Given the description of an element on the screen output the (x, y) to click on. 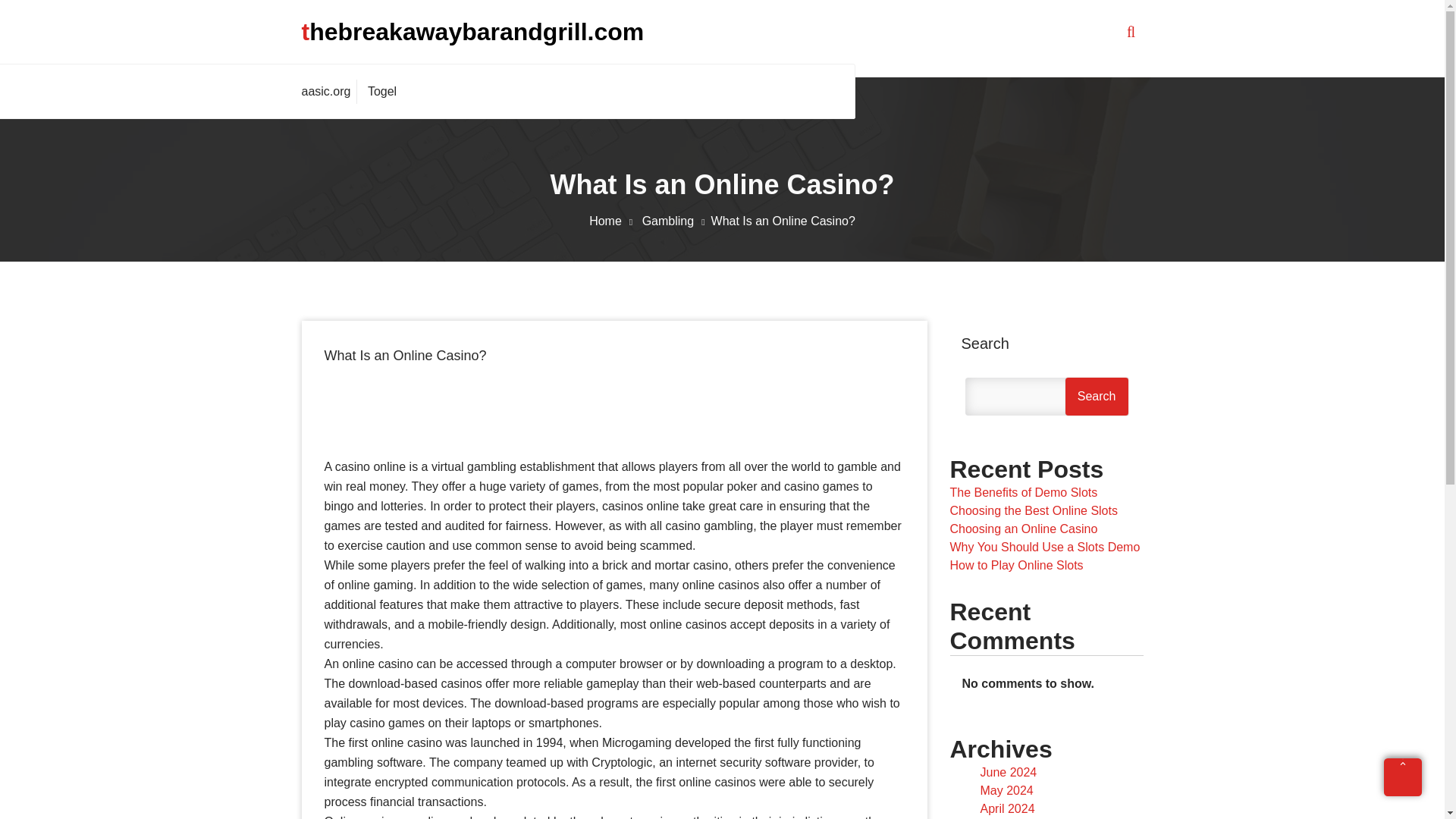
Togel (382, 91)
aasic.org (329, 91)
Choosing the Best Online Slots (1032, 510)
Home (614, 220)
June 2024 (1007, 771)
Gambling (676, 220)
How to Play Online Slots (1016, 564)
Choosing an Online Casino (1023, 528)
May 2024 (1005, 789)
thebreakawaybarandgrill.com (473, 31)
Why You Should Use a Slots Demo (1044, 546)
Search (1096, 396)
April 2024 (1006, 808)
aasic.org (329, 91)
Togel (382, 91)
